Given the description of an element on the screen output the (x, y) to click on. 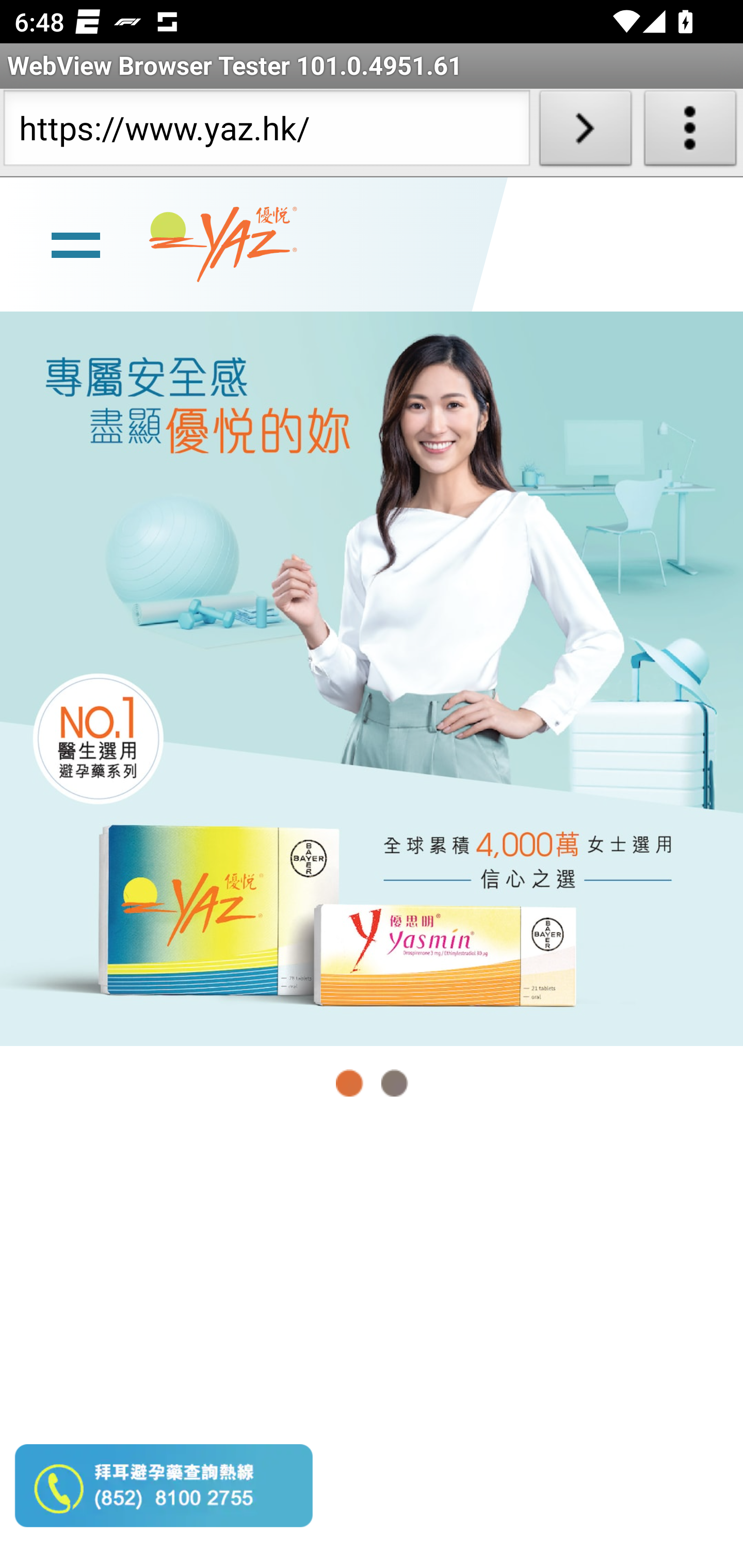
https://www.yaz.hk/ (266, 132)
Load URL (585, 132)
About WebView (690, 132)
www.yaz (222, 244)
line Toggle burger menu (75, 242)
slide 1 Alt tag Alt tag (371, 677)
1 of 2 (349, 1083)
2 of 2 (393, 1083)
Video Player (371, 1345)
